Given the description of an element on the screen output the (x, y) to click on. 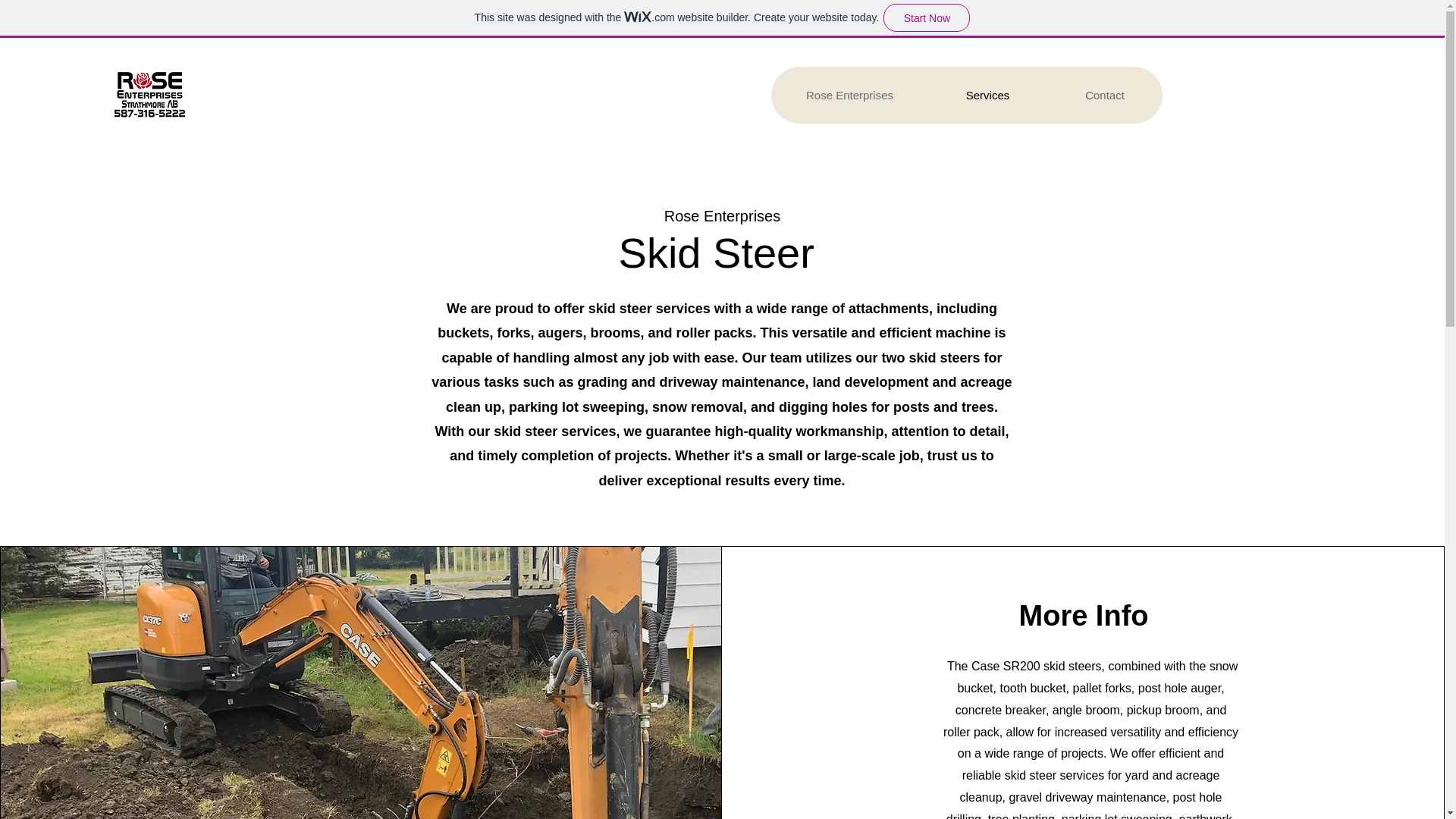
Contact (1103, 94)
Rose Enterprises (849, 94)
Screen Shot 2022-02-02 at 7.34.53 AM.png (149, 96)
Services (987, 94)
